Given the description of an element on the screen output the (x, y) to click on. 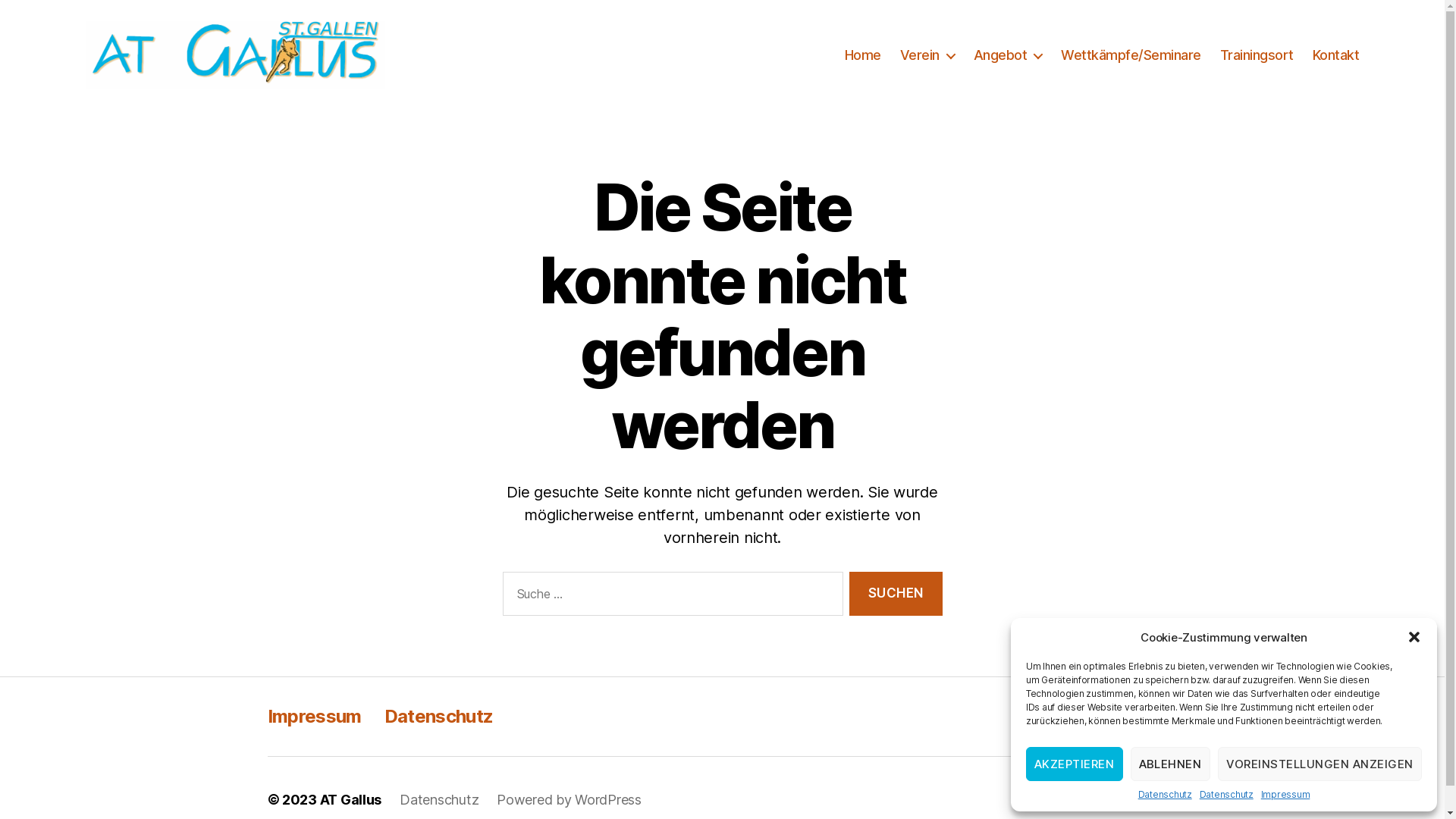
Kontakt Element type: text (1335, 55)
VOREINSTELLUNGEN ANZEIGEN Element type: text (1319, 763)
AT Gallus Element type: text (351, 799)
Datenschutz Element type: text (438, 799)
ABLEHNEN Element type: text (1169, 763)
Impressum Element type: text (1285, 794)
Powered by WordPress Element type: text (568, 799)
Suchen Element type: text (895, 593)
Datenschutz Element type: text (438, 716)
Verein Element type: text (927, 55)
Datenschutz Element type: text (1226, 794)
Angebot Element type: text (1007, 55)
Datenschutz Element type: text (1165, 794)
AKZEPTIEREN Element type: text (1074, 763)
Impressum Element type: text (313, 716)
Home Element type: text (862, 55)
Trainingsort Element type: text (1256, 55)
